Given the description of an element on the screen output the (x, y) to click on. 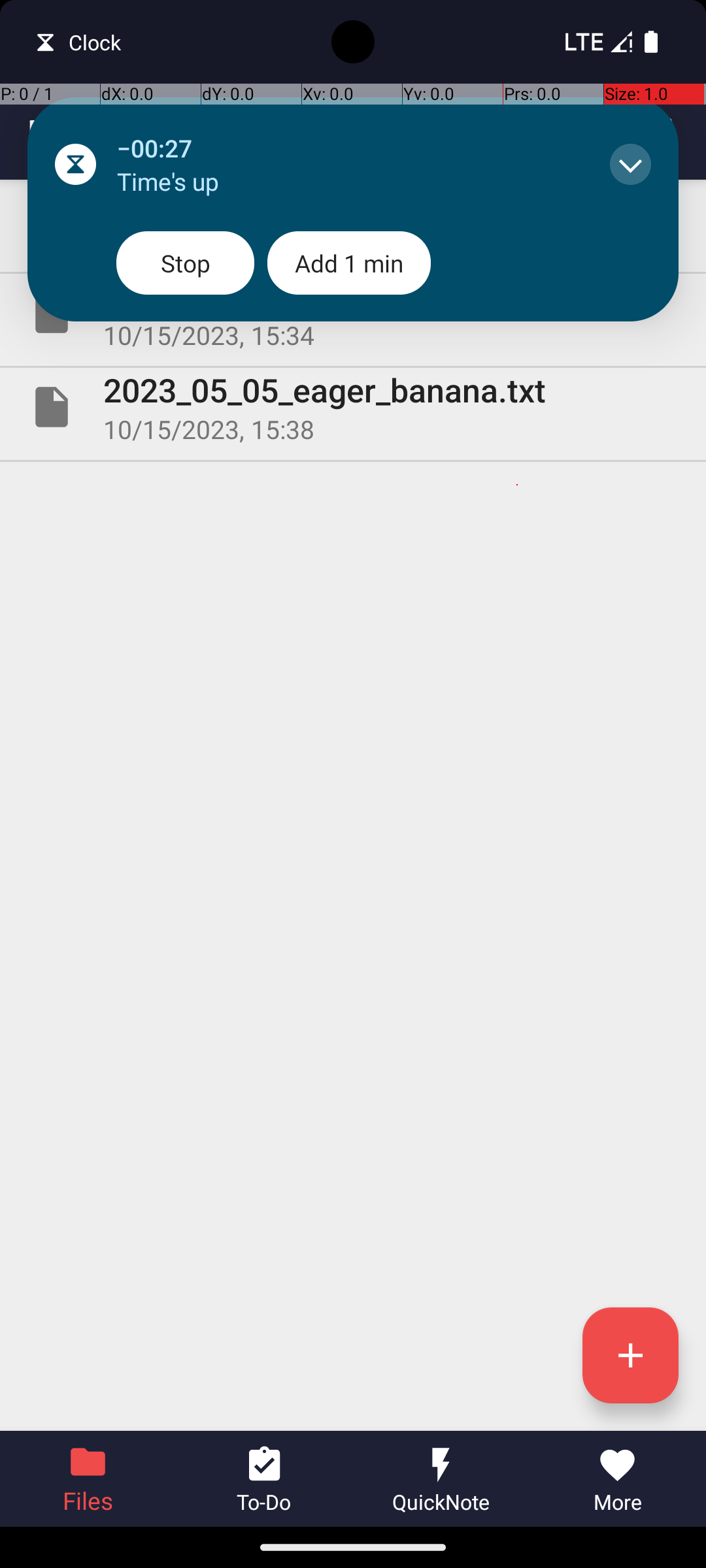
File neat_banana_Zjqa.md  Element type: android.widget.LinearLayout (353, 312)
File 2023_05_05_eager_banana.txt  Element type: android.widget.LinearLayout (353, 406)
−00:27 Element type: android.widget.Chronometer (349, 147)
Time's up Element type: android.widget.TextView (349, 180)
Expand Element type: android.widget.Button (630, 164)
Add 1 min Element type: android.widget.Button (348, 262)
